Given the description of an element on the screen output the (x, y) to click on. 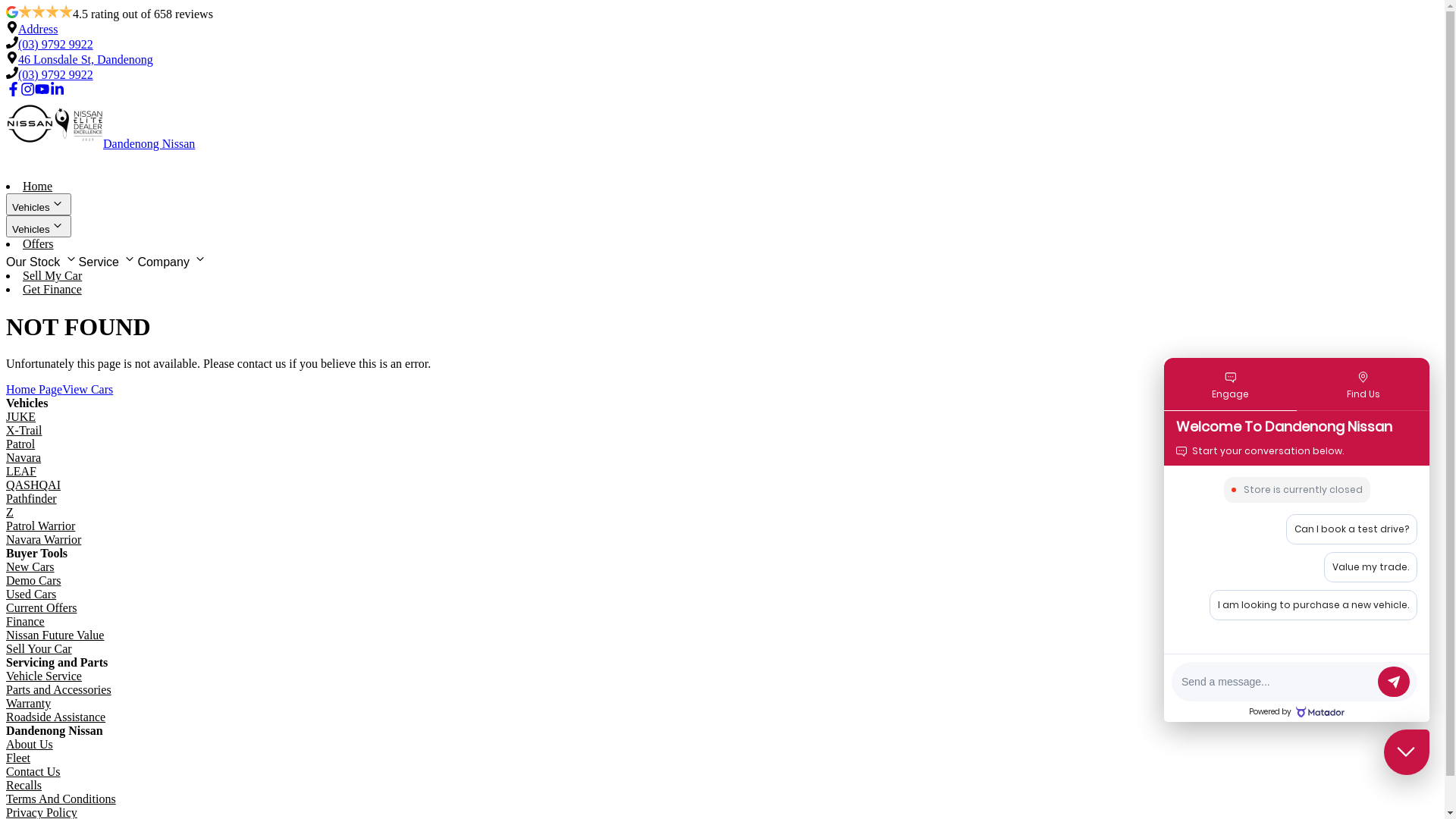
Warranty Element type: text (28, 702)
Get Finance Element type: text (51, 288)
Offers Element type: text (37, 243)
Contact Us Element type: text (33, 771)
X-Trail Element type: text (23, 429)
Our Stock Element type: text (42, 260)
About Us Element type: text (29, 743)
Home Page Element type: text (34, 388)
Vehicles Element type: text (38, 226)
Home Element type: text (37, 185)
Finance Element type: text (25, 621)
Current Offers Element type: text (41, 607)
Parts and Accessories Element type: text (58, 689)
QASHQAI Element type: text (33, 484)
Used Cars Element type: text (31, 593)
(03) 9792 9922 Element type: text (55, 43)
Dandenong Nissan Element type: text (722, 124)
Demo Cars Element type: text (33, 580)
Address Element type: text (37, 28)
LEAF Element type: text (21, 470)
Navara Warrior Element type: text (43, 539)
46 Lonsdale St, Dandenong Element type: text (85, 59)
(03) 9792 9922 Element type: text (55, 74)
View Cars Element type: text (87, 388)
New Cars Element type: text (30, 566)
Recalls Element type: text (23, 784)
Patrol Warrior Element type: text (40, 525)
Vehicles Element type: text (38, 204)
Sell Your Car Element type: text (39, 648)
Z Element type: text (9, 511)
Vehicle Service Element type: text (43, 675)
JUKE Element type: text (20, 416)
Terms And Conditions Element type: text (61, 798)
Navara Element type: text (23, 457)
Patrol Element type: text (20, 443)
Company Element type: text (172, 260)
Nissan Future Value Element type: text (54, 634)
Fleet Element type: text (18, 757)
Service Element type: text (108, 260)
Sell My Car Element type: text (51, 275)
Roadside Assistance Element type: text (55, 716)
Pathfinder Element type: text (31, 498)
